Given the description of an element on the screen output the (x, y) to click on. 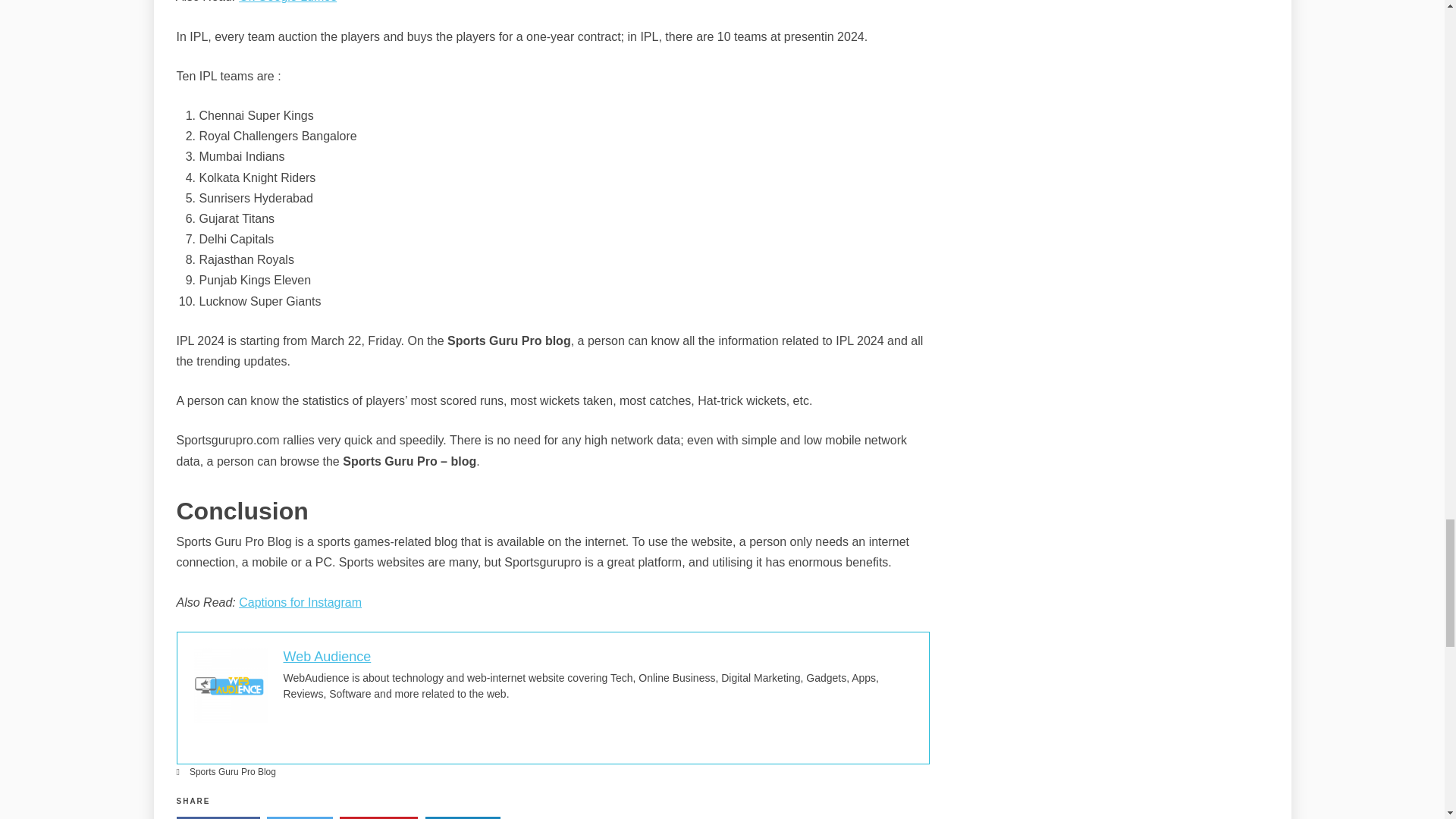
Captions for Instagram (299, 602)
Web Audience (327, 656)
Ok Google Lumos (287, 1)
